Given the description of an element on the screen output the (x, y) to click on. 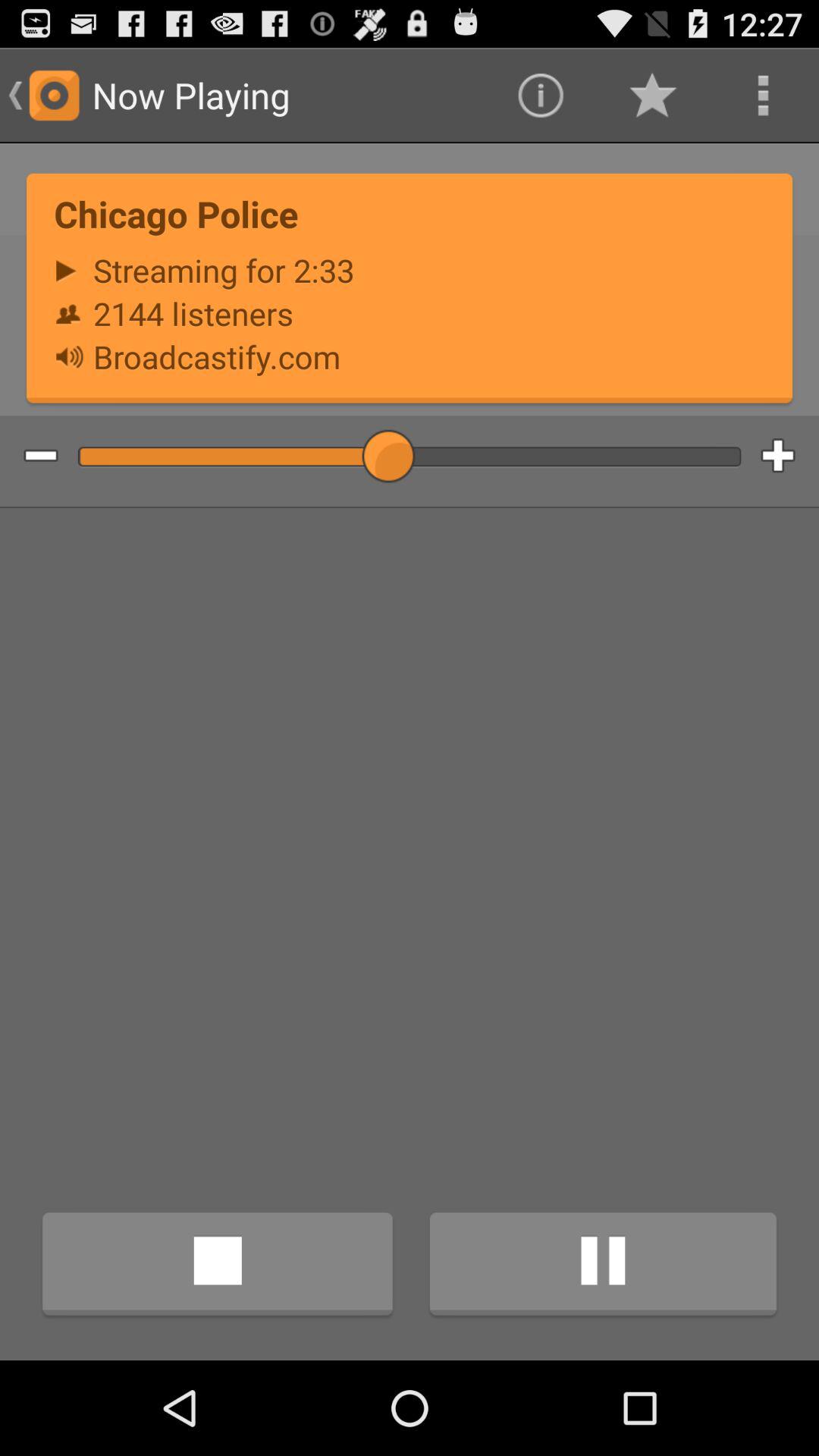
click the app above the chicago police (651, 95)
